Given the description of an element on the screen output the (x, y) to click on. 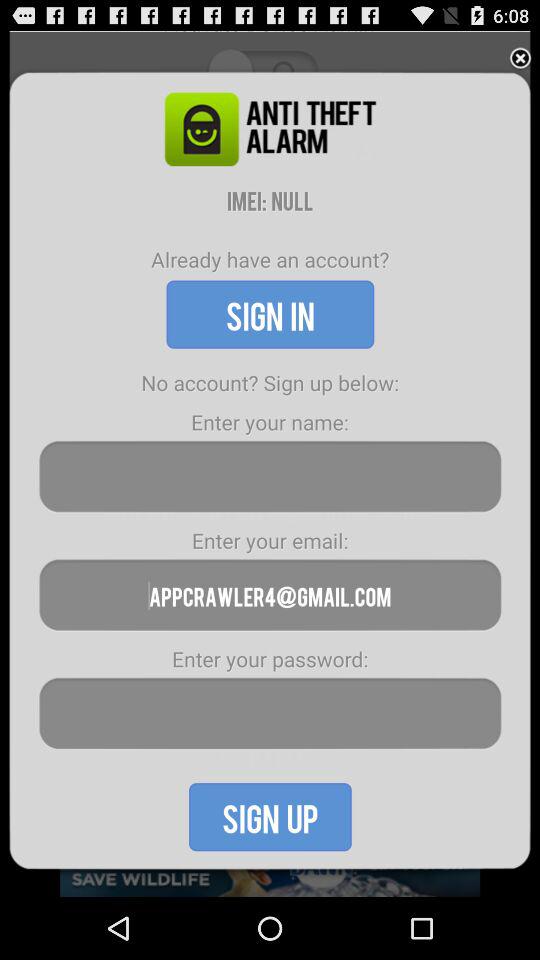
una alarma perfecta (270, 476)
